Given the description of an element on the screen output the (x, y) to click on. 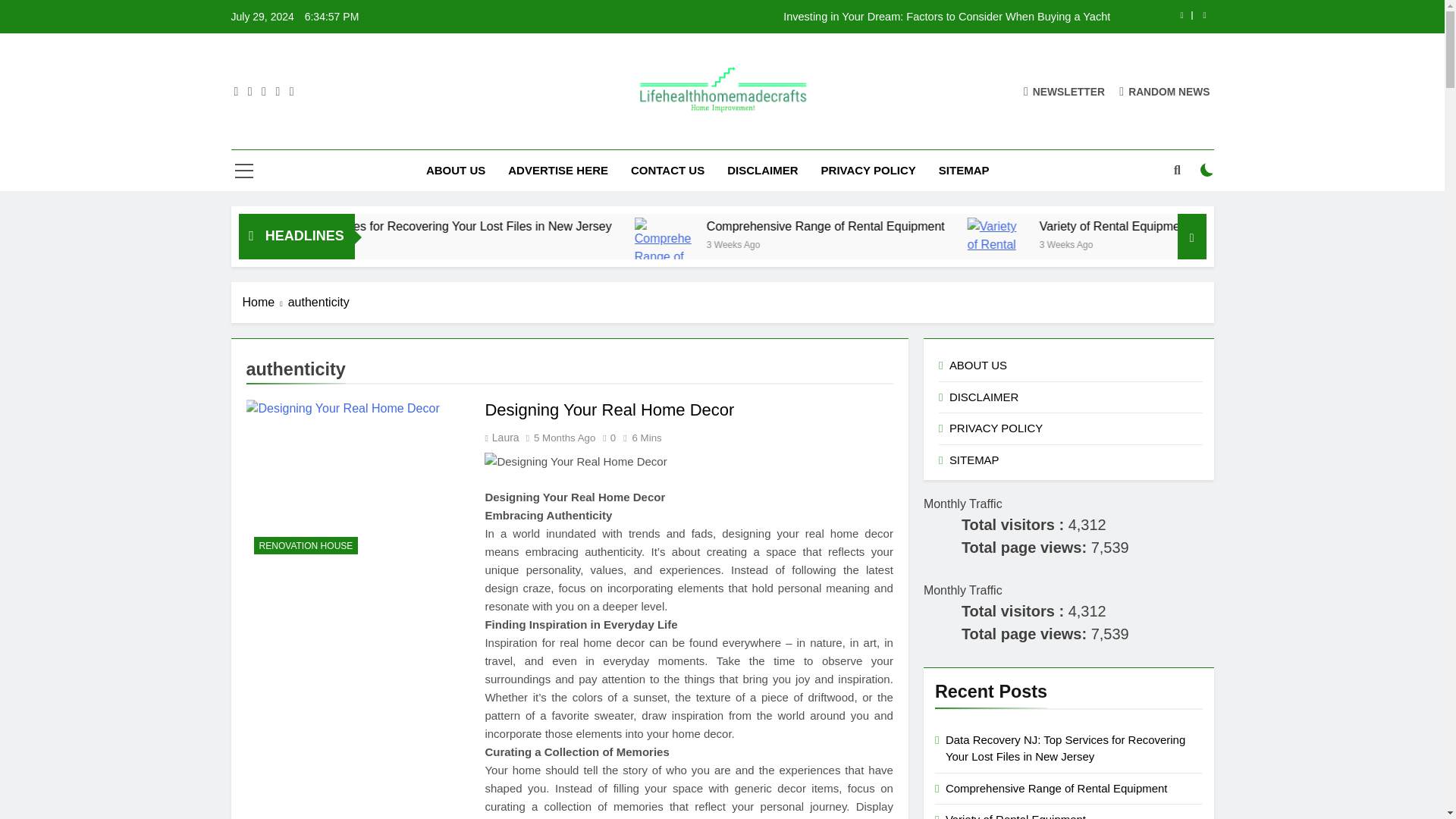
Comprehensive Range of Rental Equipment (990, 226)
SITEMAP (964, 169)
ADVERTISE HERE (558, 169)
RANDOM NEWS (1164, 91)
3 Weeks Ago (896, 243)
Variety of Rental Equipment (1124, 234)
NEWSLETTER (1064, 91)
Lifehealthhomemadecrafts (676, 135)
PRIVACY POLICY (868, 169)
on (1206, 169)
ABOUT US (455, 169)
2 Days Ago (384, 243)
